Given the description of an element on the screen output the (x, y) to click on. 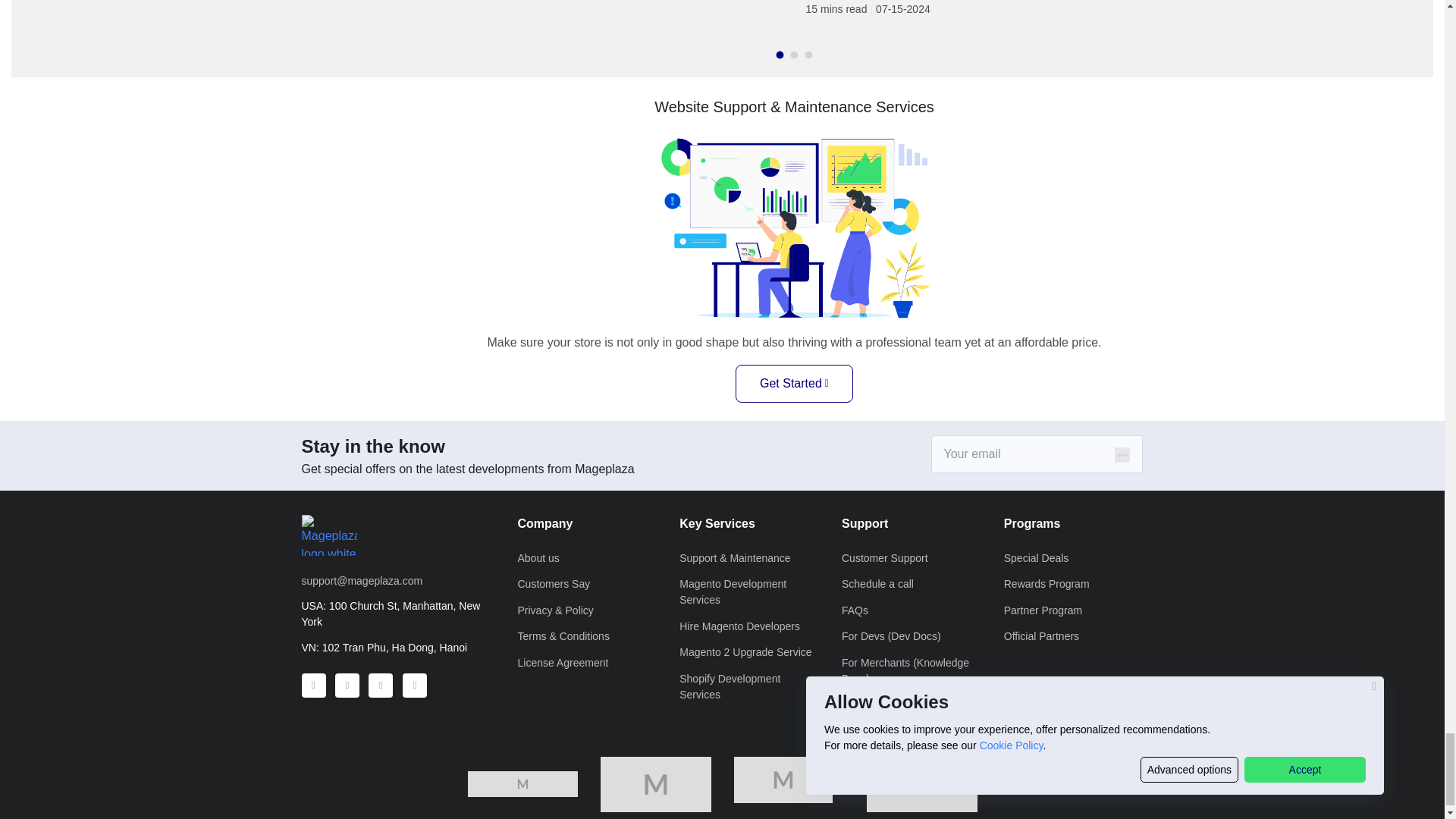
DMCA.com Protection Status (921, 782)
